Given the description of an element on the screen output the (x, y) to click on. 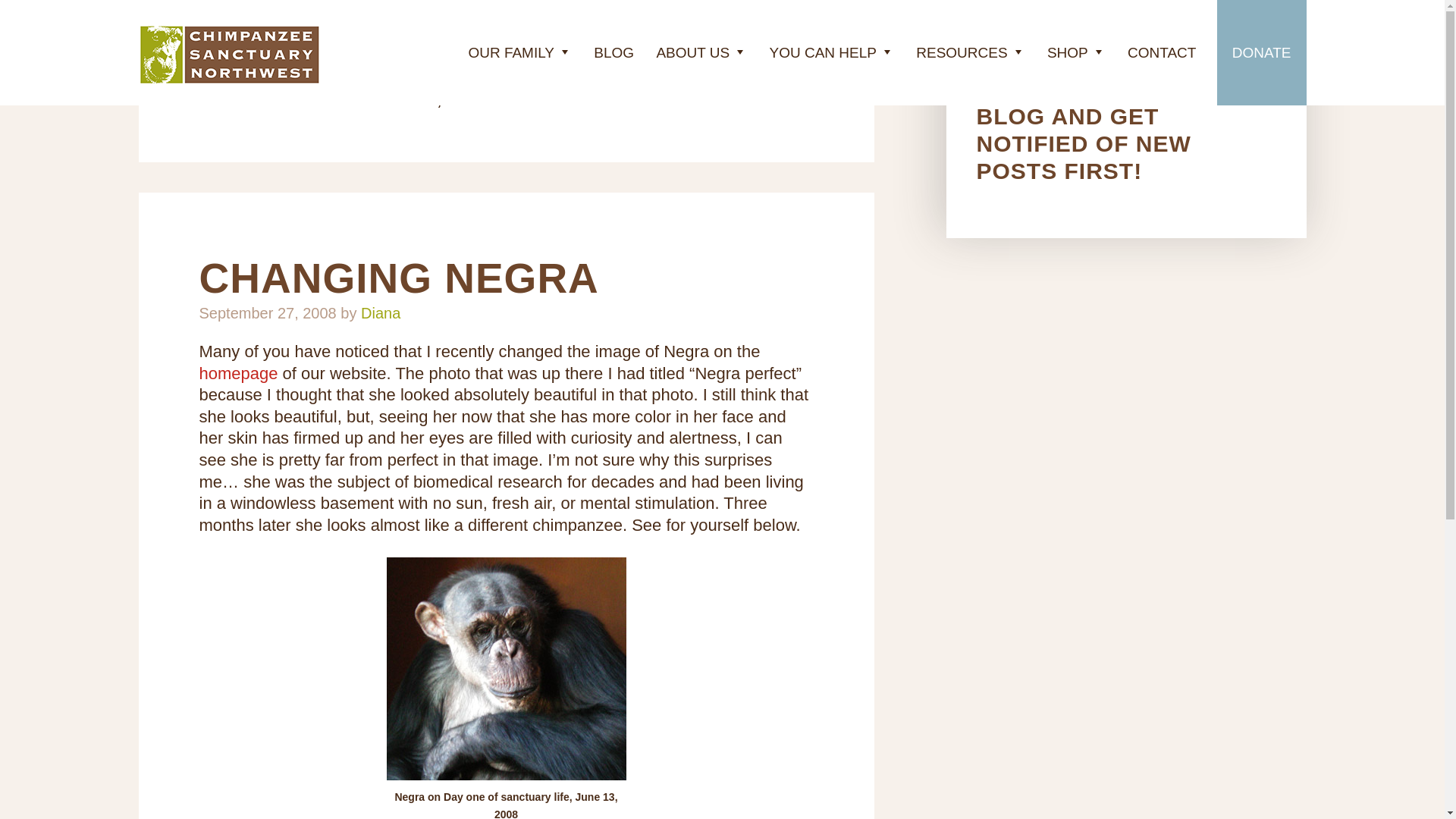
RESOURCES (970, 52)
ABOUT US (700, 52)
Chimpanzee Sanctuary Northwest (229, 54)
OUR FAMILY (519, 52)
YOU CAN HELP (831, 52)
